Given the description of an element on the screen output the (x, y) to click on. 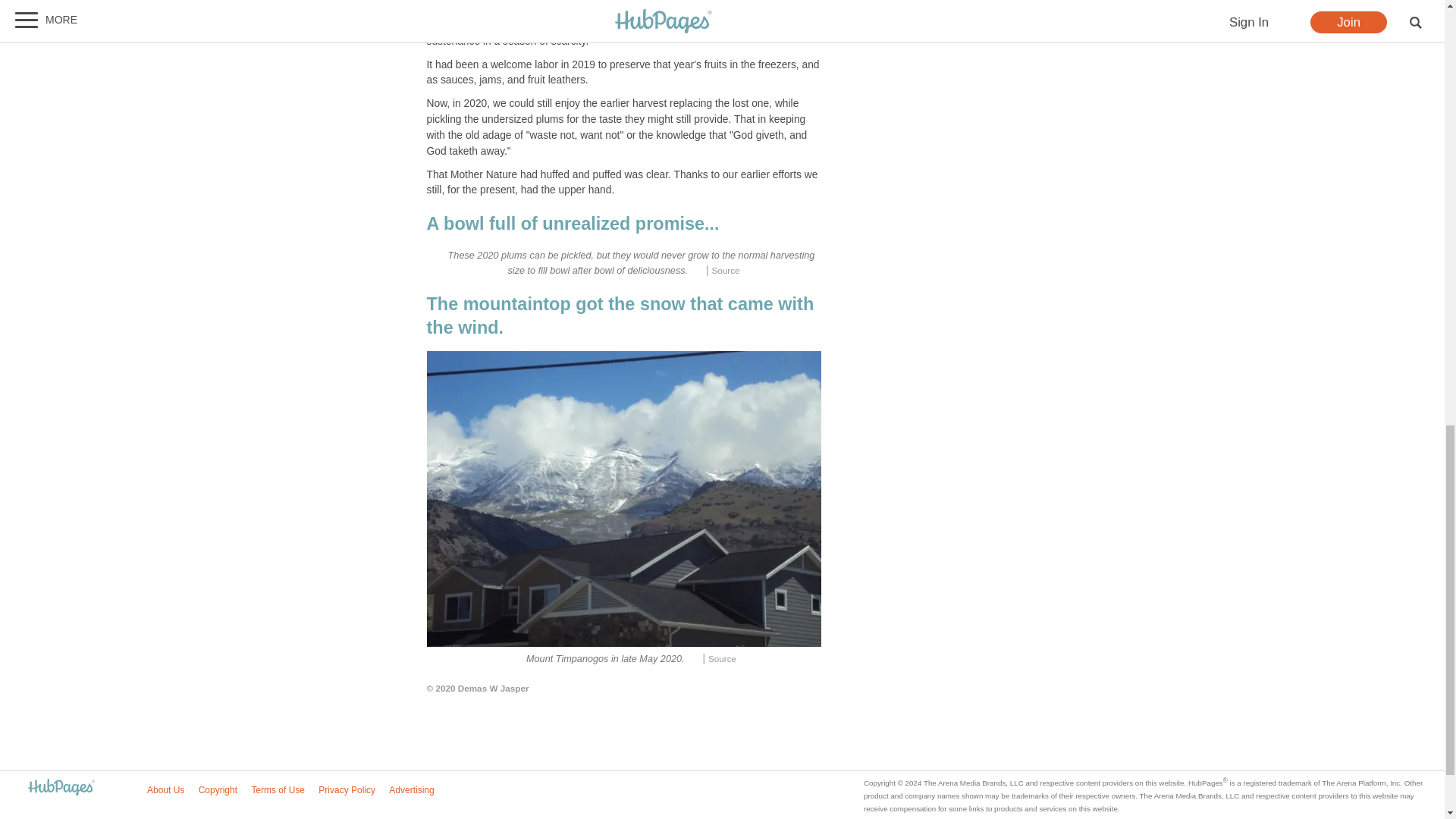
To the HubPages home page (60, 787)
Mount Timpanogos in late May 2020. (623, 499)
